Given the description of an element on the screen output the (x, y) to click on. 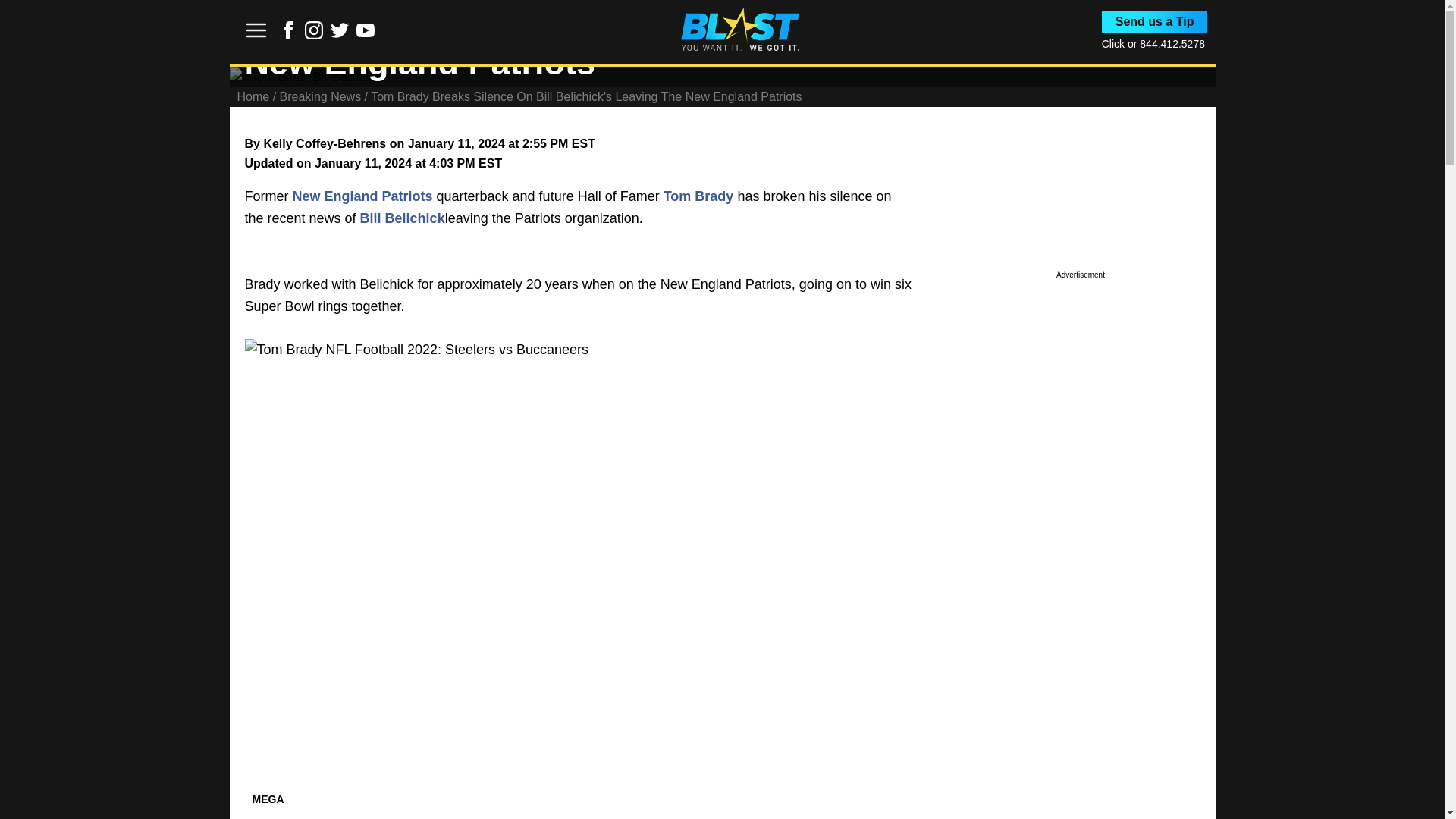
Send us a Tip (1155, 21)
Link to Instagram (313, 30)
Bill Belichick (402, 218)
Link to Youtube (365, 34)
Link to Youtube (365, 30)
Link to Twitter (339, 30)
New England Patriots (362, 196)
Click or 844.412.5278 (1153, 43)
Link to Twitter (339, 34)
Link to Facebook (288, 30)
Home (252, 96)
Link to Facebook (288, 34)
Tom Brady (698, 196)
Breaking News (320, 96)
Link to Instagram (313, 34)
